Given the description of an element on the screen output the (x, y) to click on. 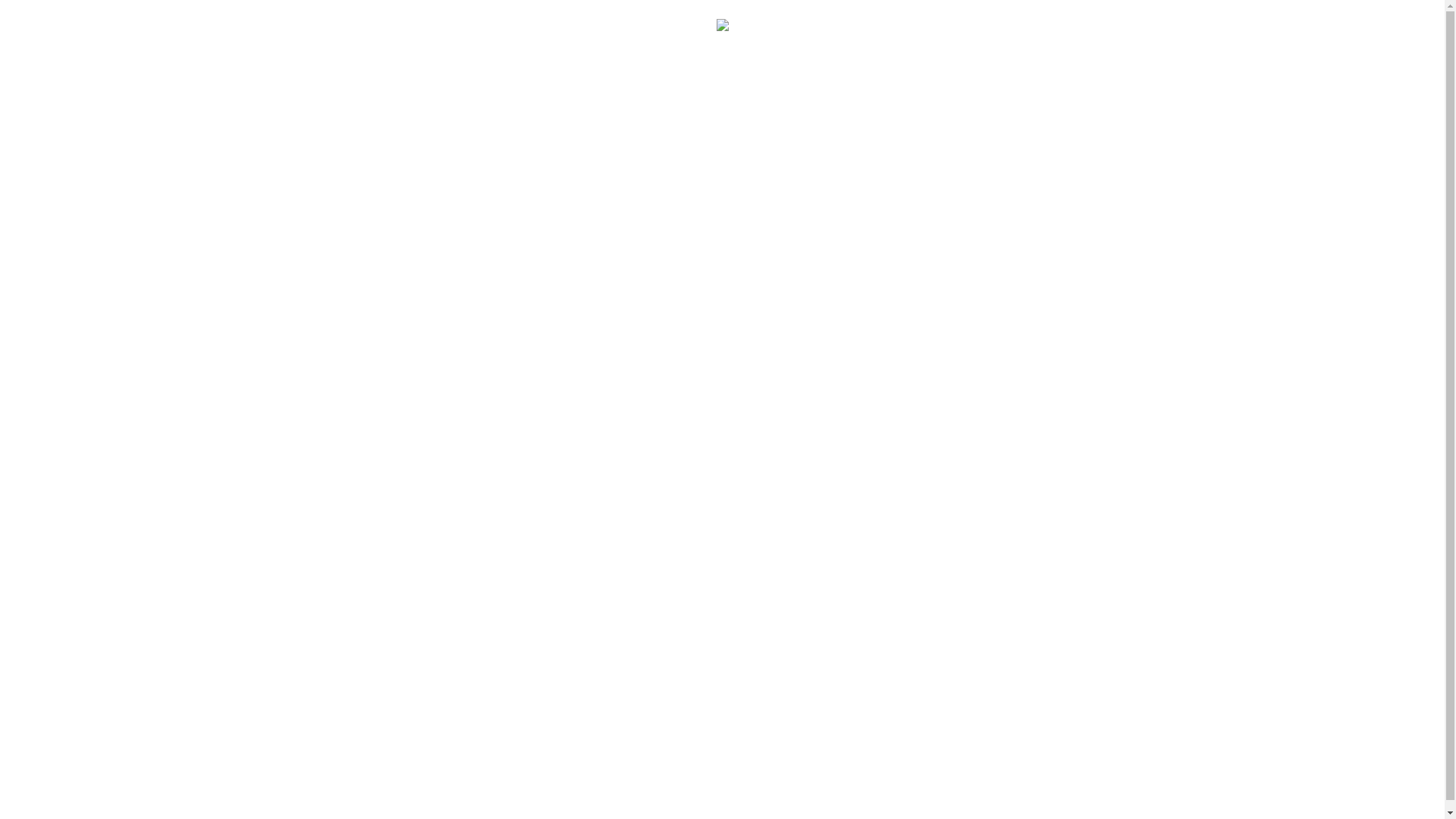
HAMPTONS HOUSE 182 SYDNEY RD FAIRLIGHT NSW 2094 Element type: text (574, 805)
+61 414 770 225 Element type: text (991, 805)
MONICA@MONICAFORD.COM.AU Element type: text (846, 805)
